Given the description of an element on the screen output the (x, y) to click on. 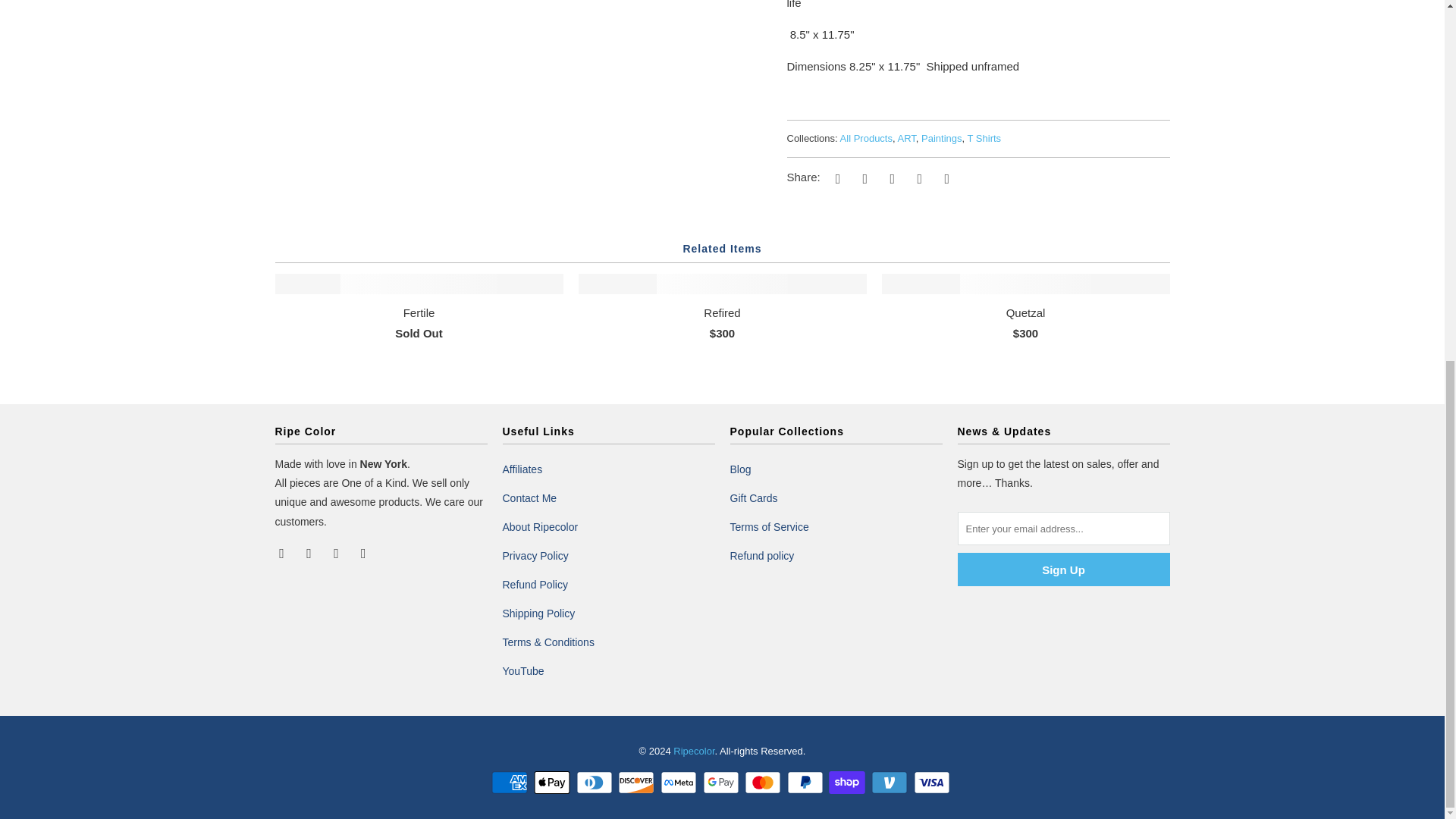
Share this on Facebook (862, 177)
Mastercard (764, 782)
Share this on Pinterest (889, 177)
T Shirts (984, 138)
ART (906, 138)
Apple Pay (553, 782)
Shop Pay (847, 782)
All Products (866, 138)
Email this to a friend (944, 177)
Meta Pay (680, 782)
